Given the description of an element on the screen output the (x, y) to click on. 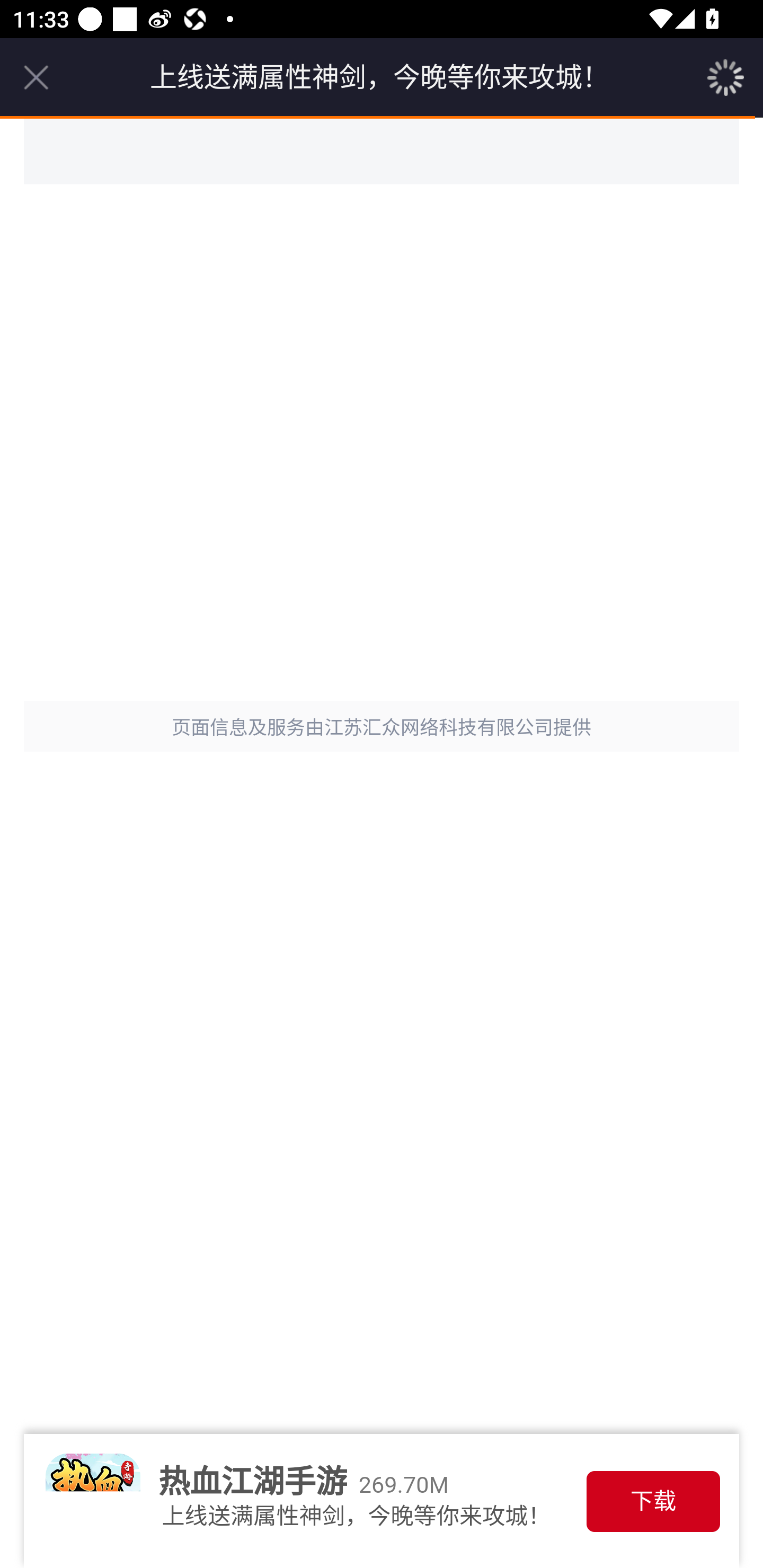
上线送满属性神剑，今晚等你来攻城！ (379, 77)
下载 (653, 1500)
